Given the description of an element on the screen output the (x, y) to click on. 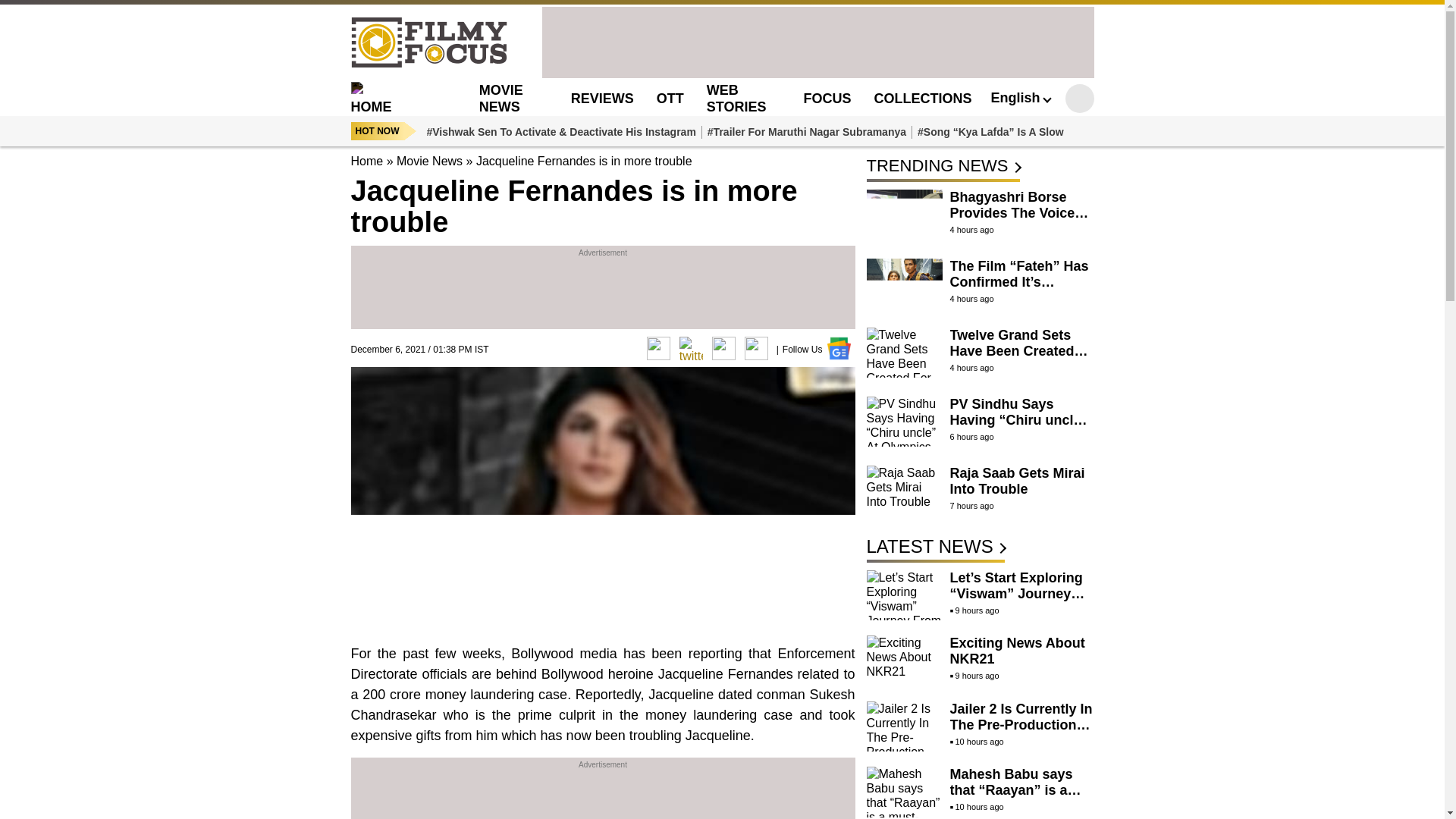
Movie News (500, 97)
COLLECTIONS (922, 98)
Reviews (601, 98)
OTT (670, 98)
Movie News (429, 160)
Home (366, 160)
REVIEWS (601, 98)
Home (395, 97)
OTT (670, 98)
MOVIE NEWS (500, 97)
English (1019, 97)
whatsapp  (723, 348)
FOCUS (827, 98)
Focus (827, 98)
WEB STORIES (736, 97)
